Given the description of an element on the screen output the (x, y) to click on. 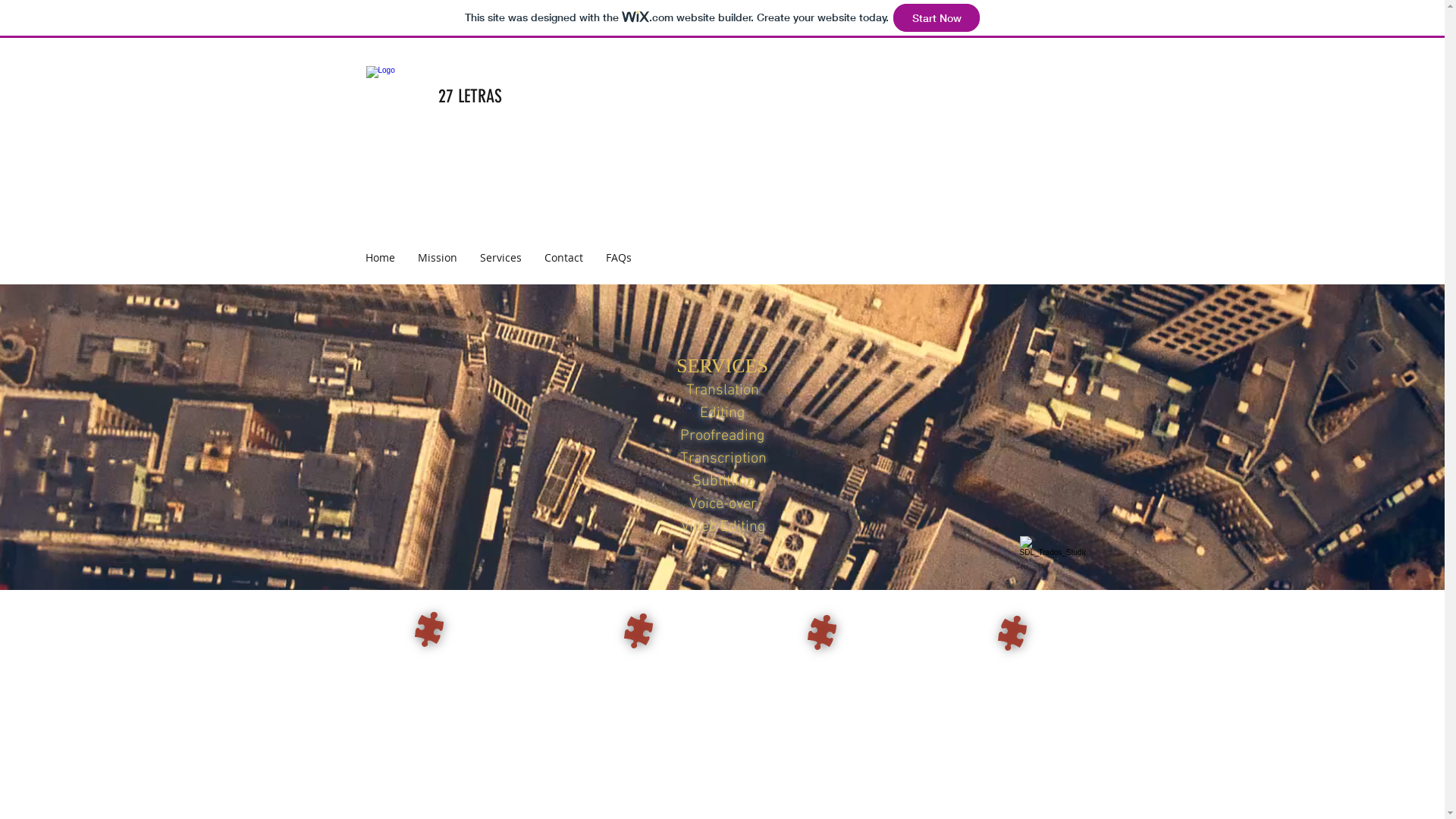
Contact Element type: text (562, 257)
FAQs Element type: text (618, 257)
Services Element type: text (500, 257)
Home Element type: text (379, 257)
Mission Element type: text (437, 257)
